Given the description of an element on the screen output the (x, y) to click on. 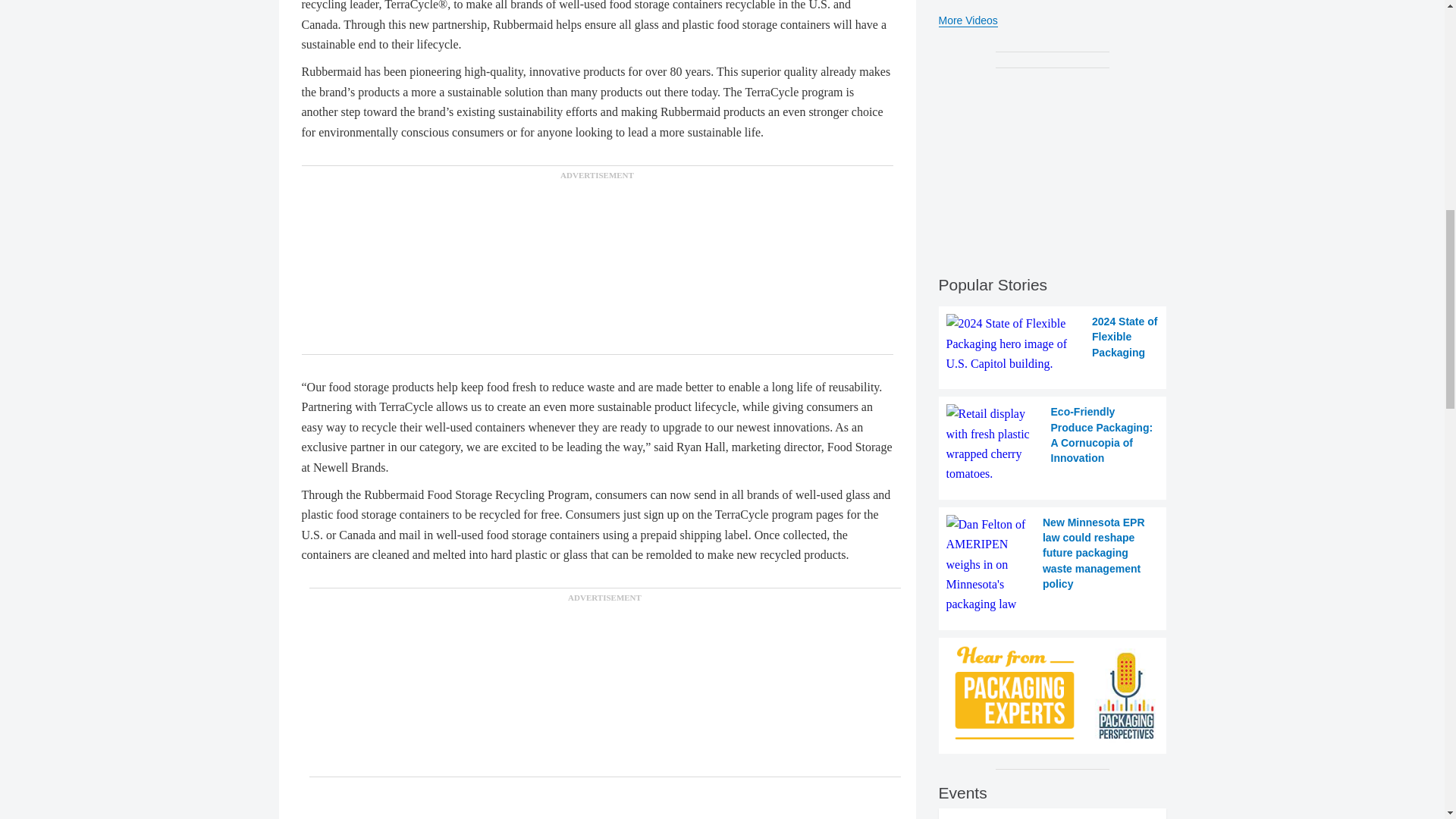
Eco-Friendly Produce Packaging: A Cornucopia of Innovation (1052, 444)
2024 State of Flexible Packaging (1052, 343)
